Given the description of an element on the screen output the (x, y) to click on. 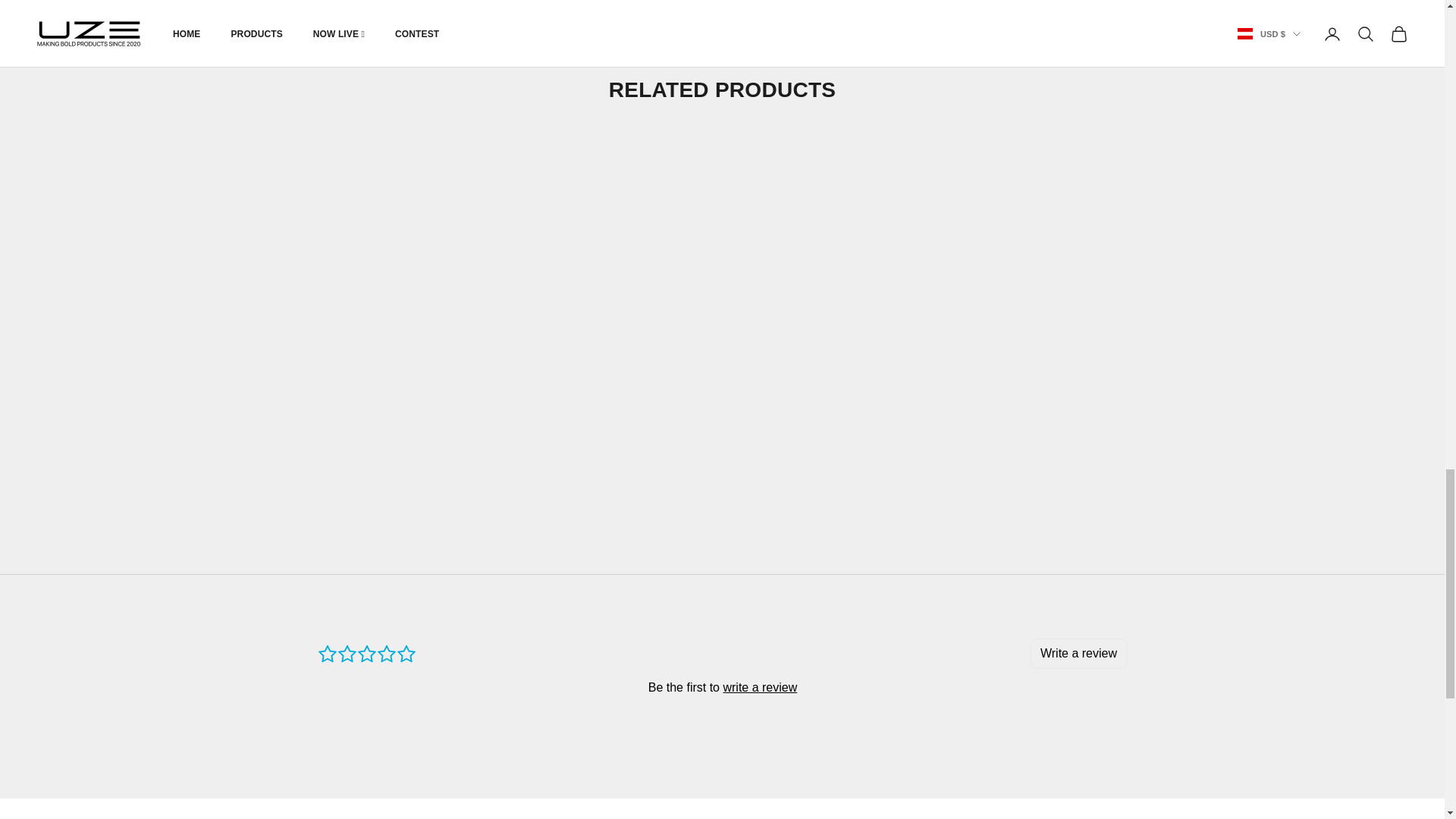
Product reviews widget (722, 686)
